Given the description of an element on the screen output the (x, y) to click on. 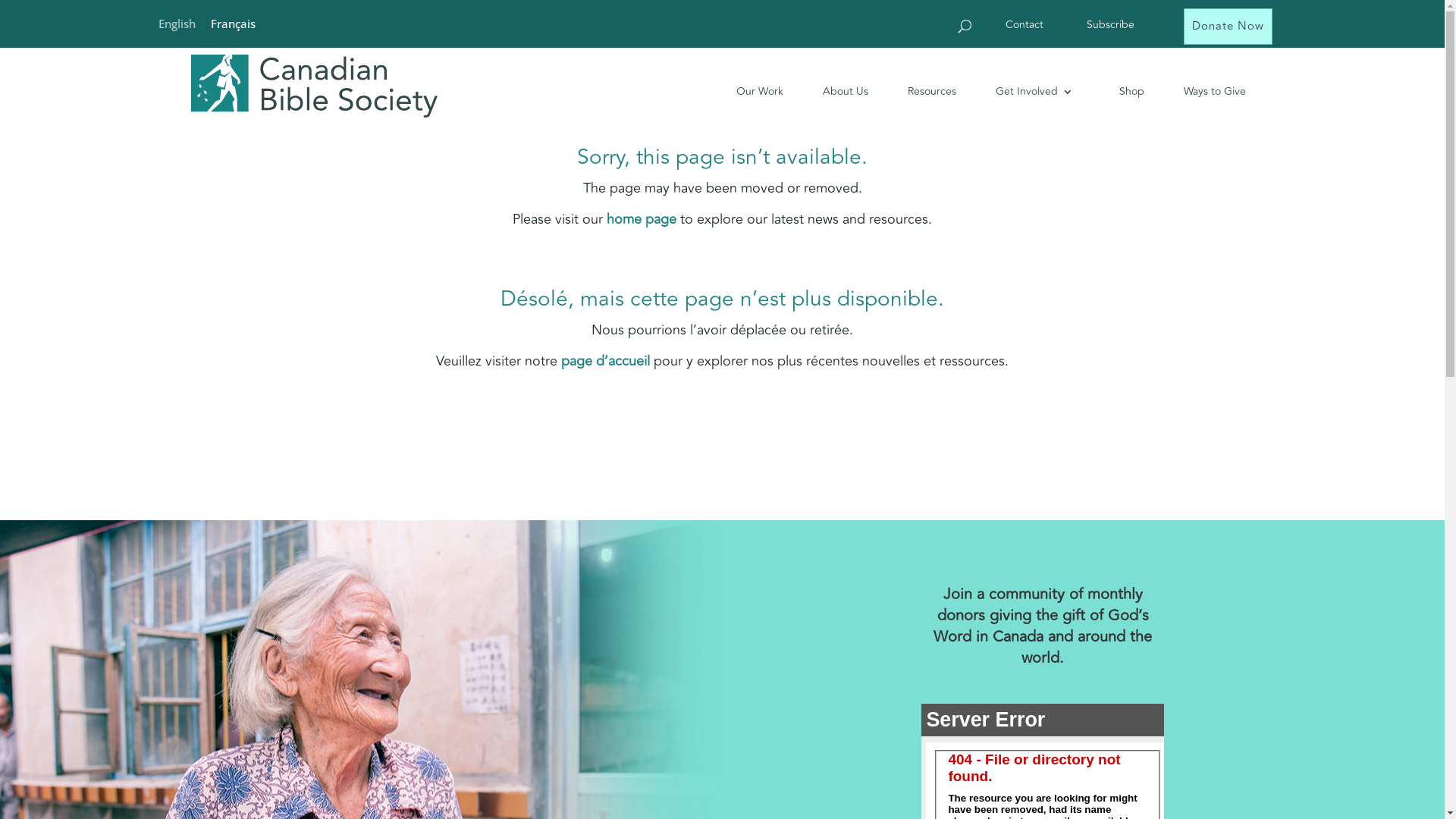
About Us Element type: text (833, 91)
English Element type: text (176, 23)
Get Involved Element type: text (1022, 91)
Our Work Element type: text (747, 91)
Resources Element type: text (919, 91)
Contact Element type: text (1018, 27)
Shop Element type: text (1120, 91)
Subscribe Element type: text (1104, 27)
Ways to Give Element type: text (1202, 91)
Donate Now Element type: text (1227, 26)
home page Element type: text (641, 218)
